Given the description of an element on the screen output the (x, y) to click on. 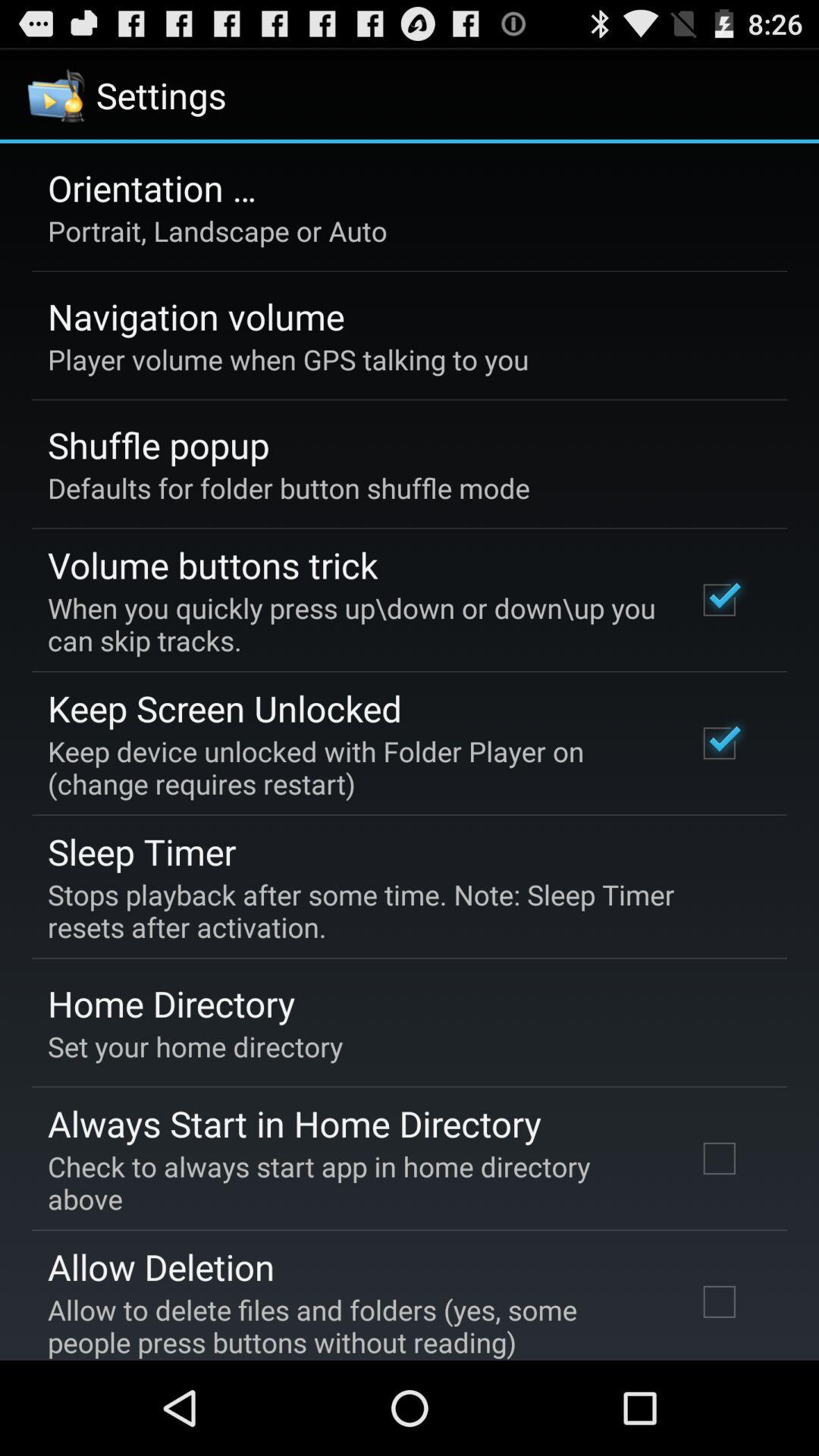
swipe to check to always item (351, 1182)
